Given the description of an element on the screen output the (x, y) to click on. 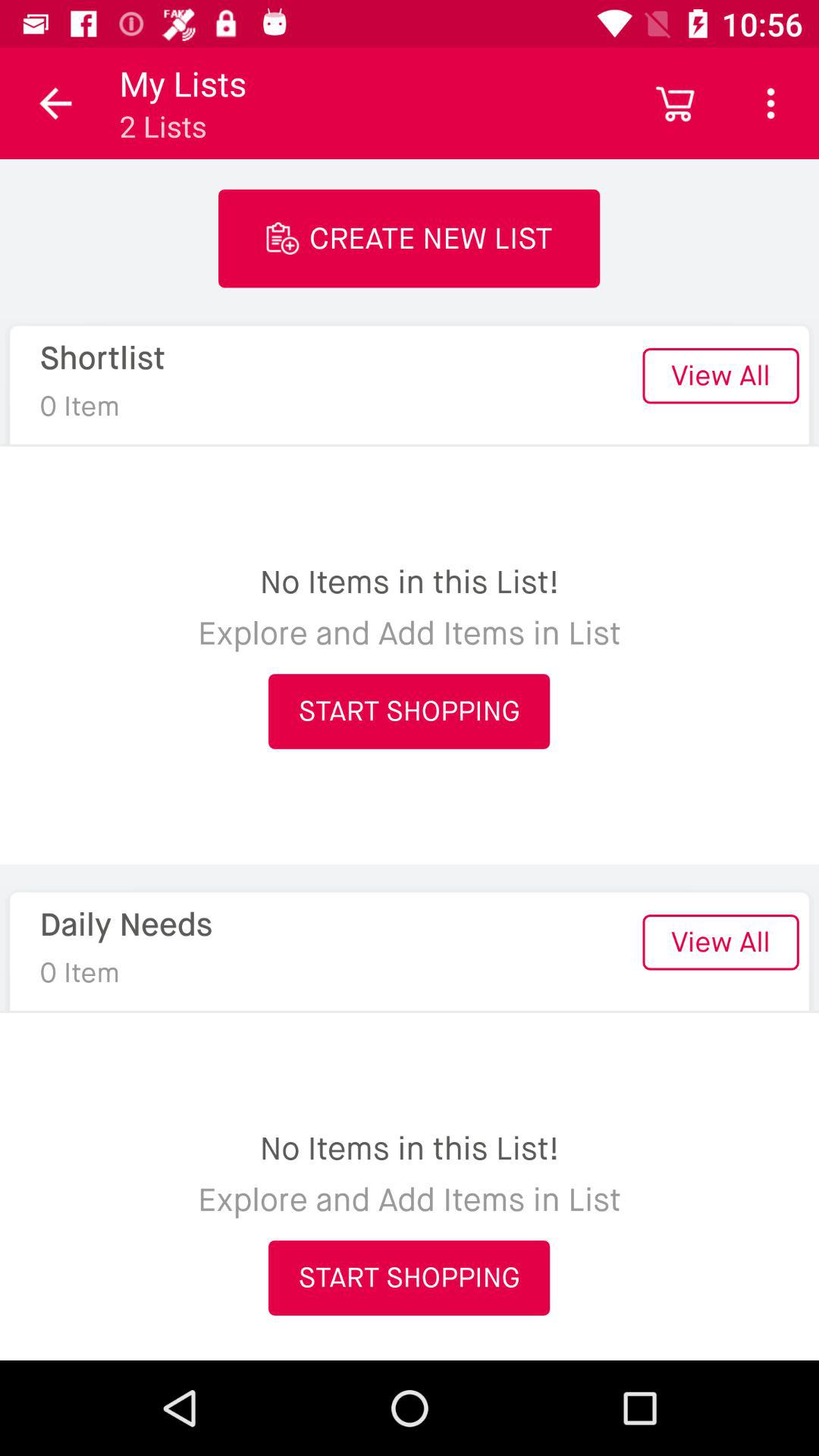
press item next to the my lists app (675, 103)
